Given the description of an element on the screen output the (x, y) to click on. 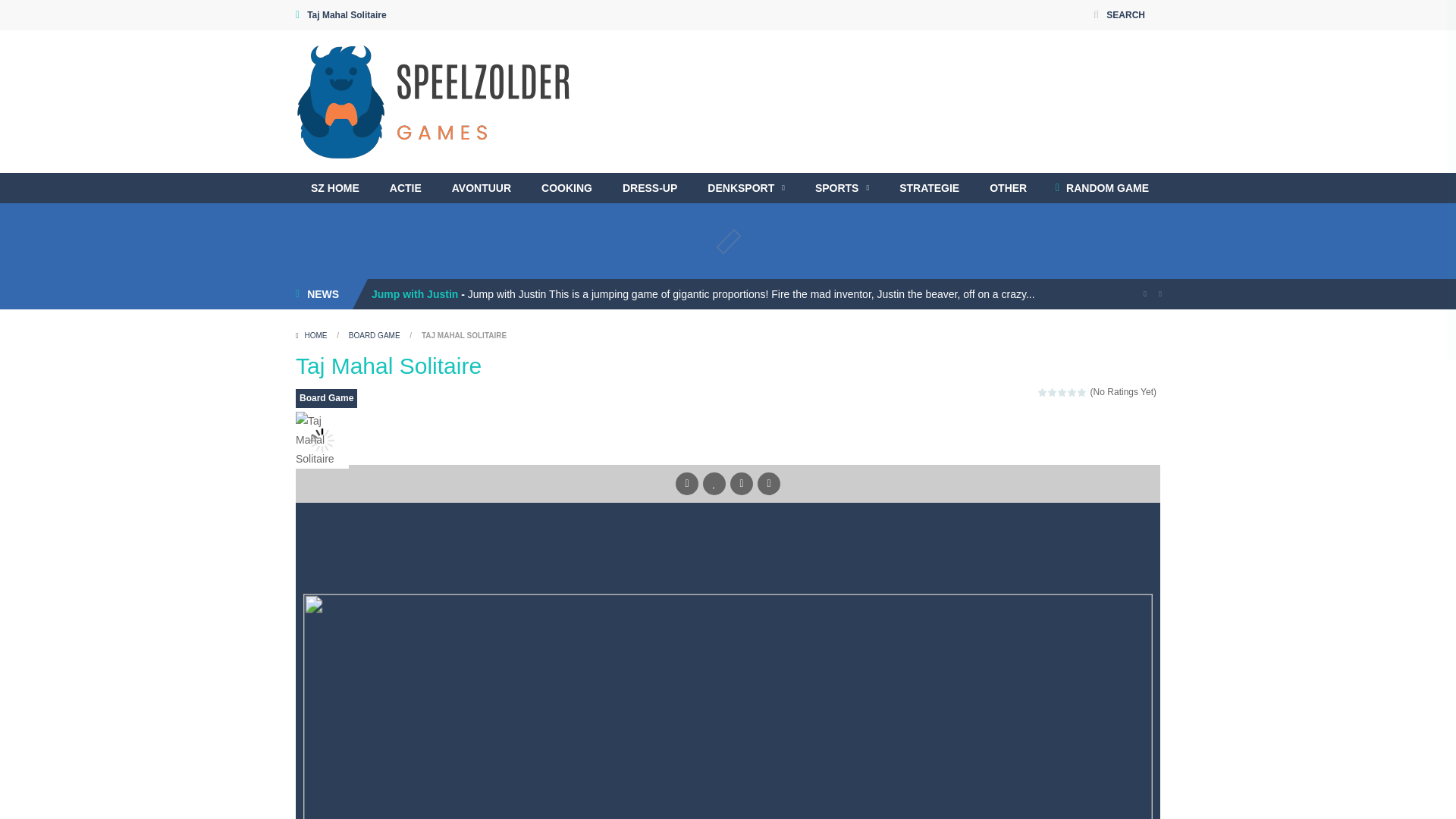
ACTIE (405, 187)
RANDOM GAME (1101, 187)
SpeelZolder GAMES (434, 101)
DENKSPORT (746, 187)
Play a random game! (1101, 187)
SEARCH (1118, 15)
OTHER (1008, 187)
AVONTUUR (480, 187)
SPORTS (841, 187)
STRATEGIE (928, 187)
